Given the description of an element on the screen output the (x, y) to click on. 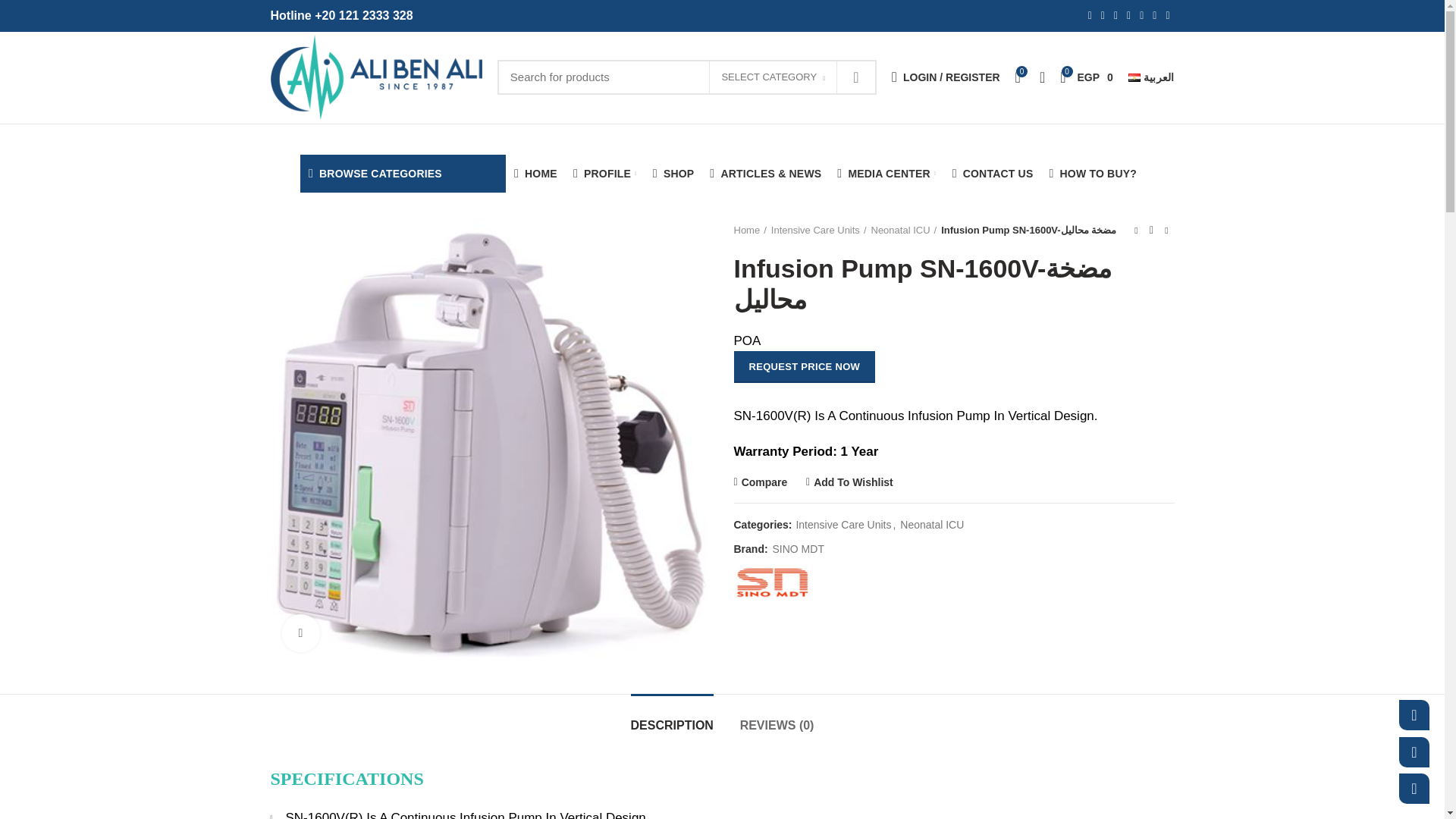
SELECT CATEGORY (772, 77)
My account (945, 77)
ContactUs (1414, 752)
SELECT CATEGORY (773, 76)
Shopping cart (1086, 77)
CallUs (1414, 788)
WhatsAppChat (1414, 715)
